Given the description of an element on the screen output the (x, y) to click on. 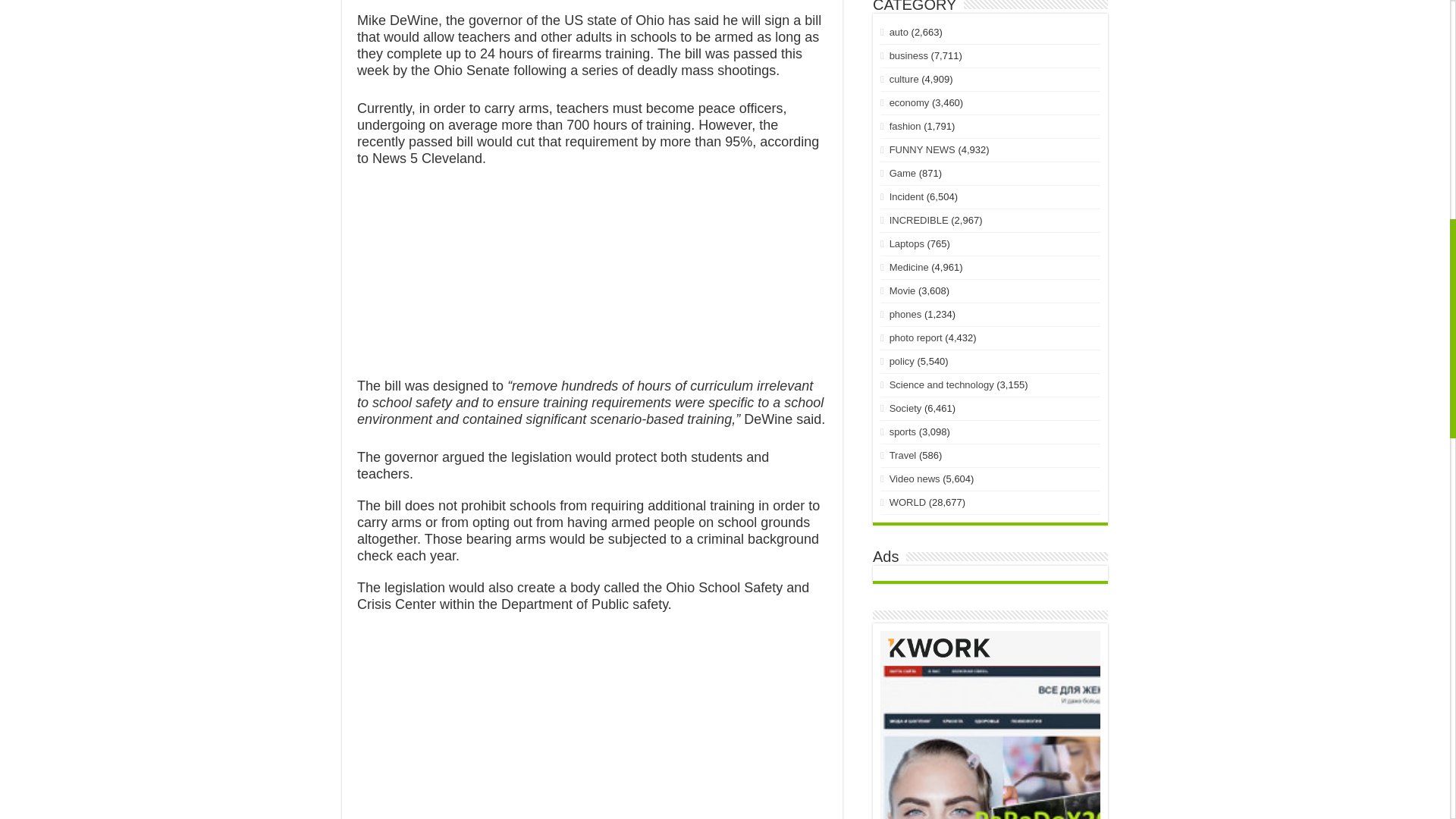
Scroll To Top (1427, 60)
